Given the description of an element on the screen output the (x, y) to click on. 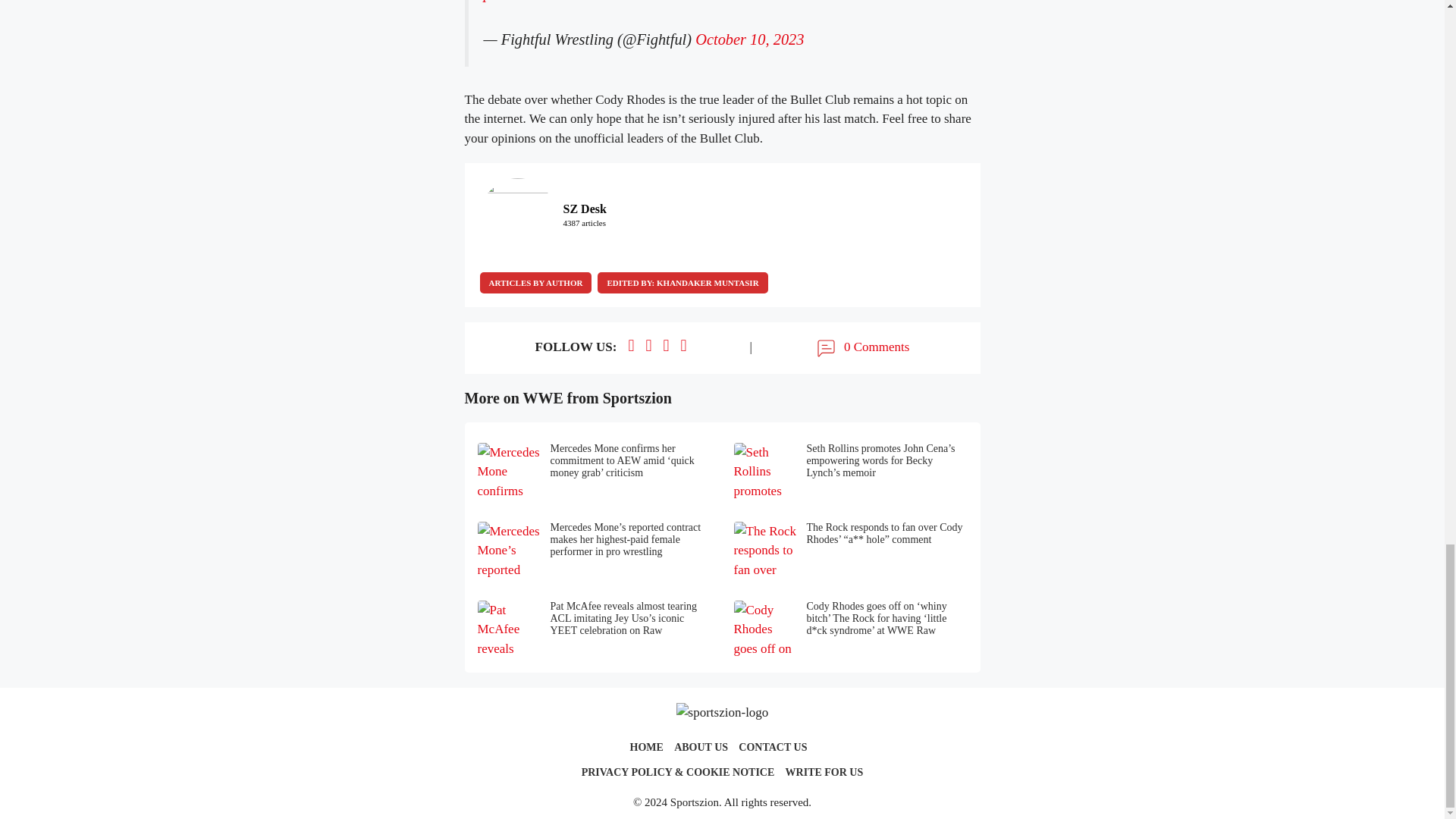
October 10, 2023 (749, 39)
EDITED BY: KHANDAKER MUNTASIR (681, 282)
ARTICLES BY AUTHOR (535, 282)
0 Comments (861, 347)
